Given the description of an element on the screen output the (x, y) to click on. 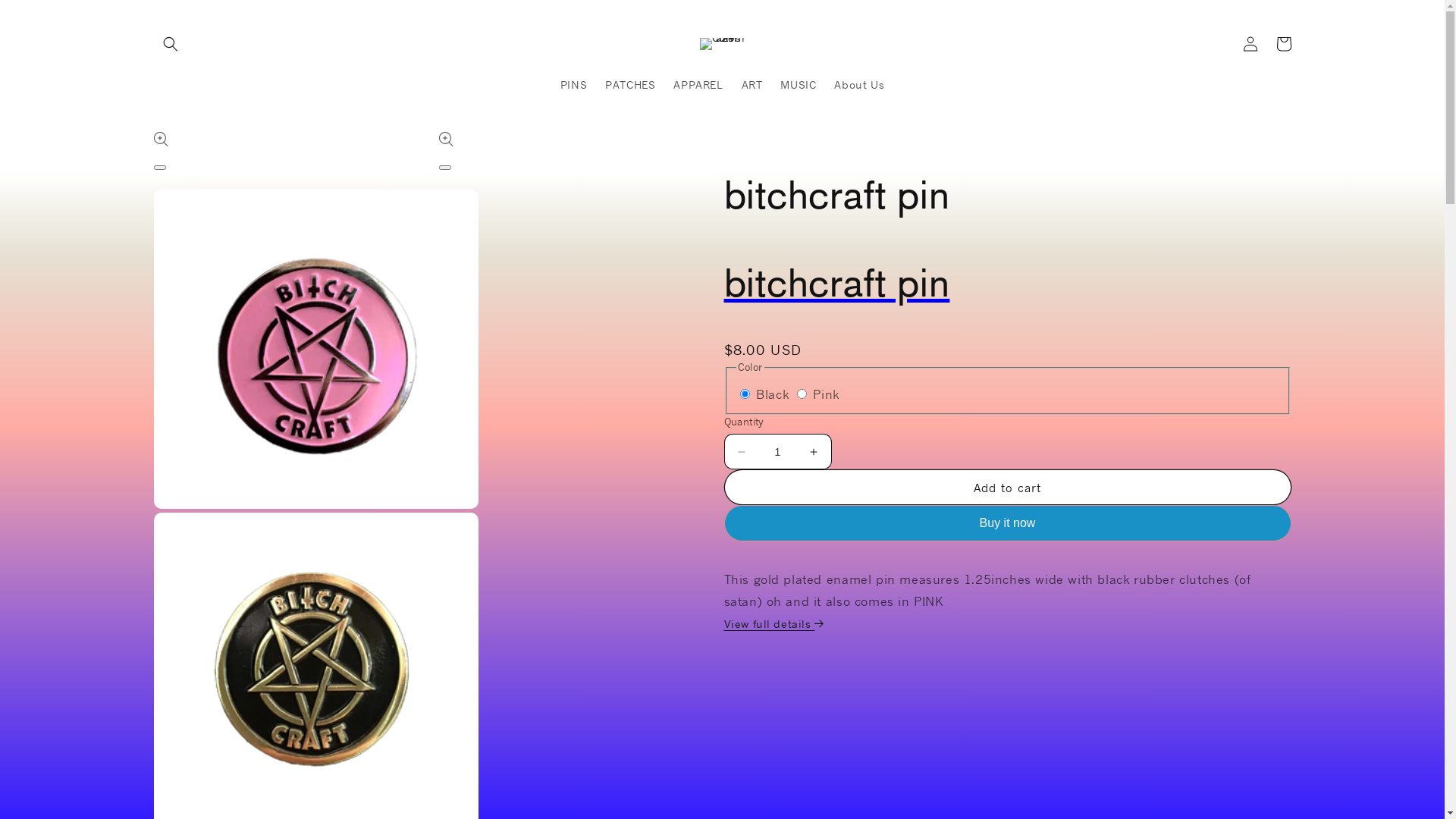
PINS Element type: text (573, 84)
PATCHES Element type: text (630, 84)
bitchcraft pin Element type: text (1006, 282)
Buy it now Element type: text (1006, 523)
APPAREL Element type: text (697, 84)
Skip to product information Element type: text (199, 148)
Open media 2 in modal Element type: text (444, 167)
Add to cart Element type: text (1006, 487)
Decrease quantity for bitchcraft pin Element type: text (741, 451)
MUSIC Element type: text (798, 84)
ART Element type: text (751, 84)
About Us Element type: text (859, 84)
View full details Element type: text (774, 623)
Cart Element type: text (1282, 43)
Log in Element type: text (1249, 43)
Open media 1 in modal Element type: text (159, 167)
Increase quantity for bitchcraft pin Element type: text (813, 451)
